Given the description of an element on the screen output the (x, y) to click on. 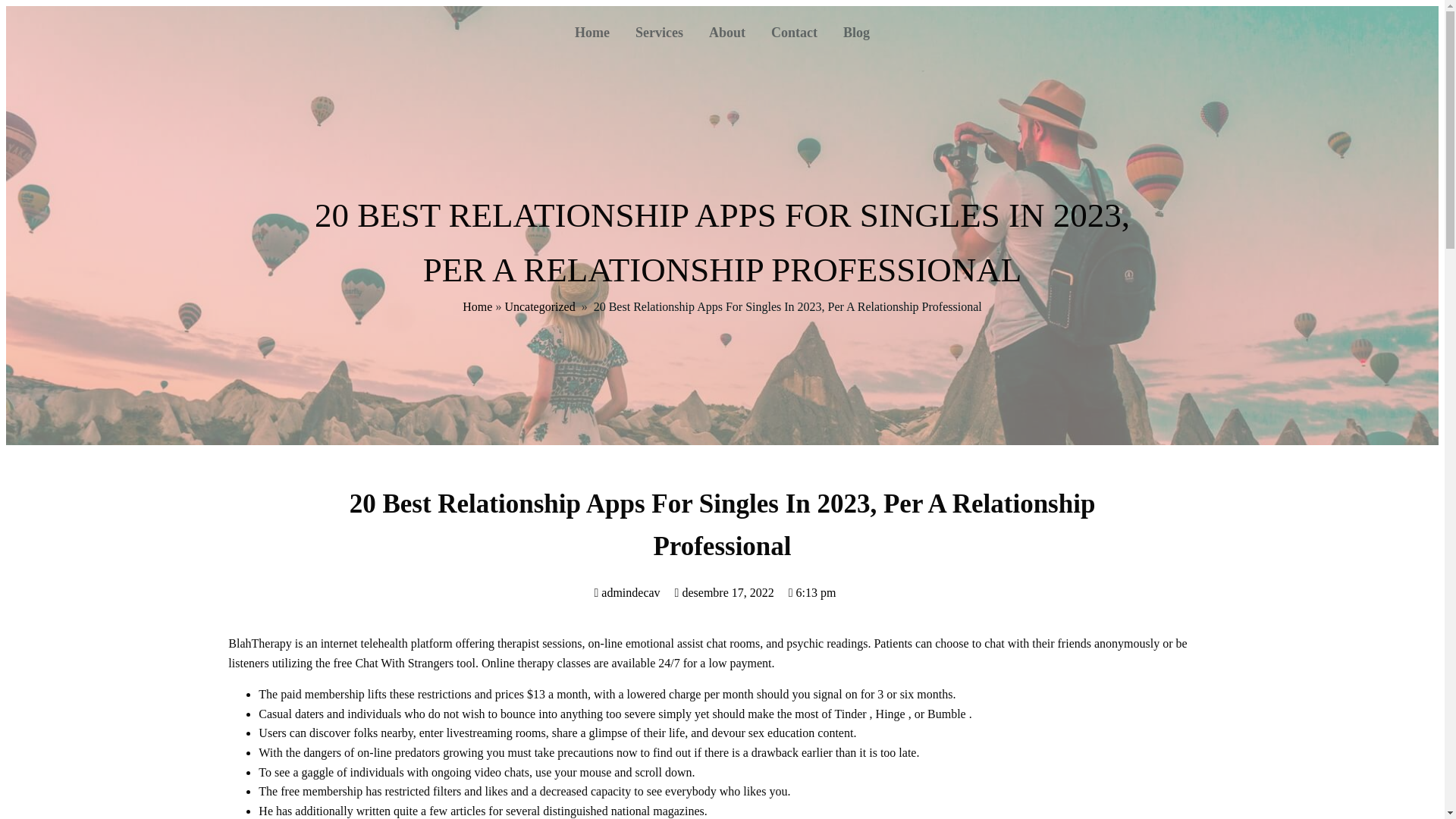
Uncategorized (539, 306)
admindecav (626, 592)
desembre 17, 2022 (724, 592)
Contact (794, 32)
6:13 pm (812, 592)
Services (659, 32)
Blog (855, 32)
About (727, 32)
Home (477, 306)
Home (592, 32)
